Given the description of an element on the screen output the (x, y) to click on. 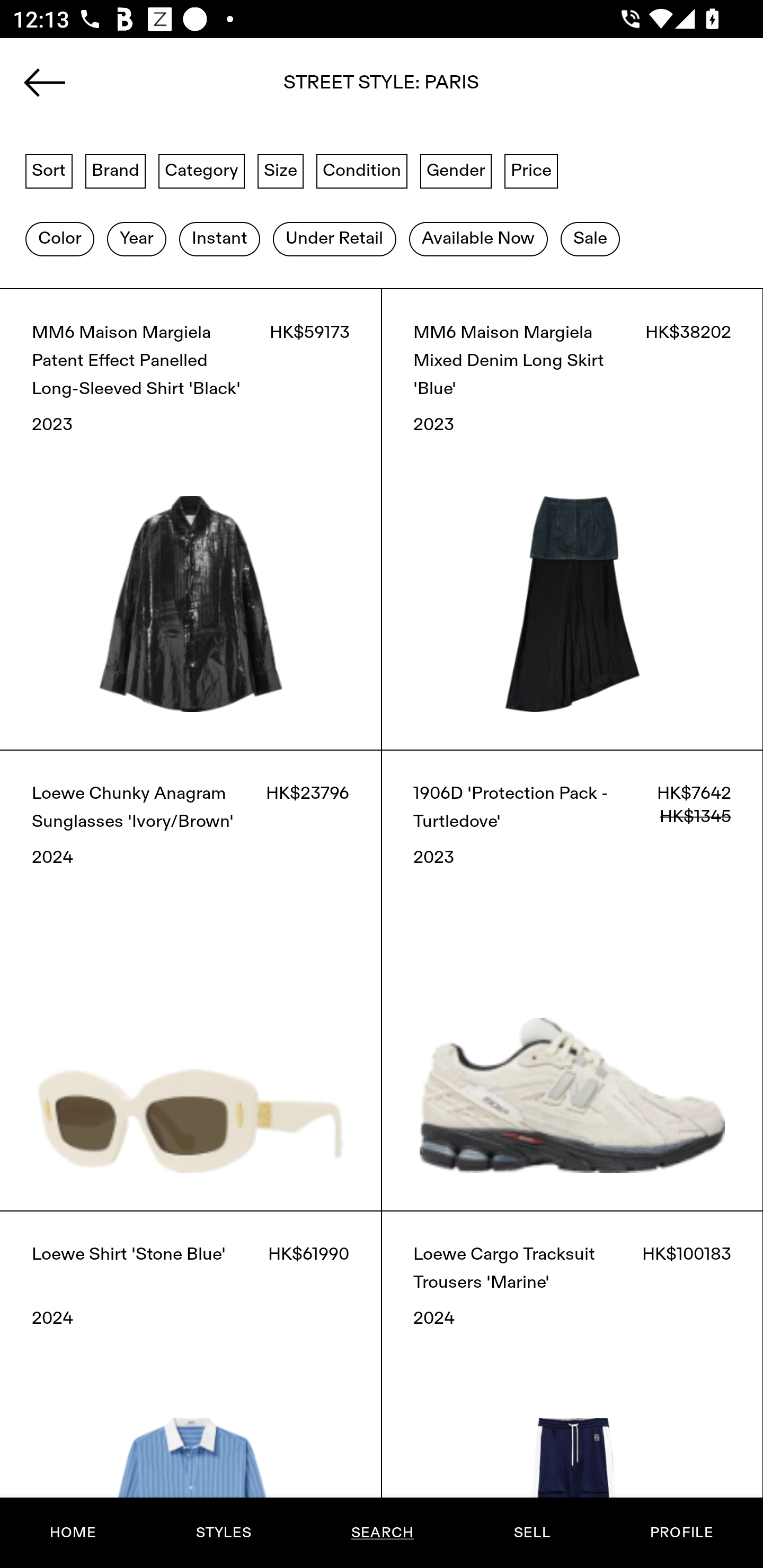
Search (381, 88)
Sort (48, 170)
Brand (115, 170)
Category (201, 170)
Size (280, 170)
Condition (361, 170)
Gender (455, 170)
Price (530, 170)
Color (59, 239)
Year (136, 239)
Instant (219, 239)
Under Retail (334, 239)
Available Now (477, 239)
Sale (589, 239)
Loewe Shirt 'Stone Blue' HK$61990 2024 (190, 1389)
HOME (72, 1532)
STYLES (222, 1532)
SEARCH (381, 1532)
SELL (531, 1532)
PROFILE (681, 1532)
